Given the description of an element on the screen output the (x, y) to click on. 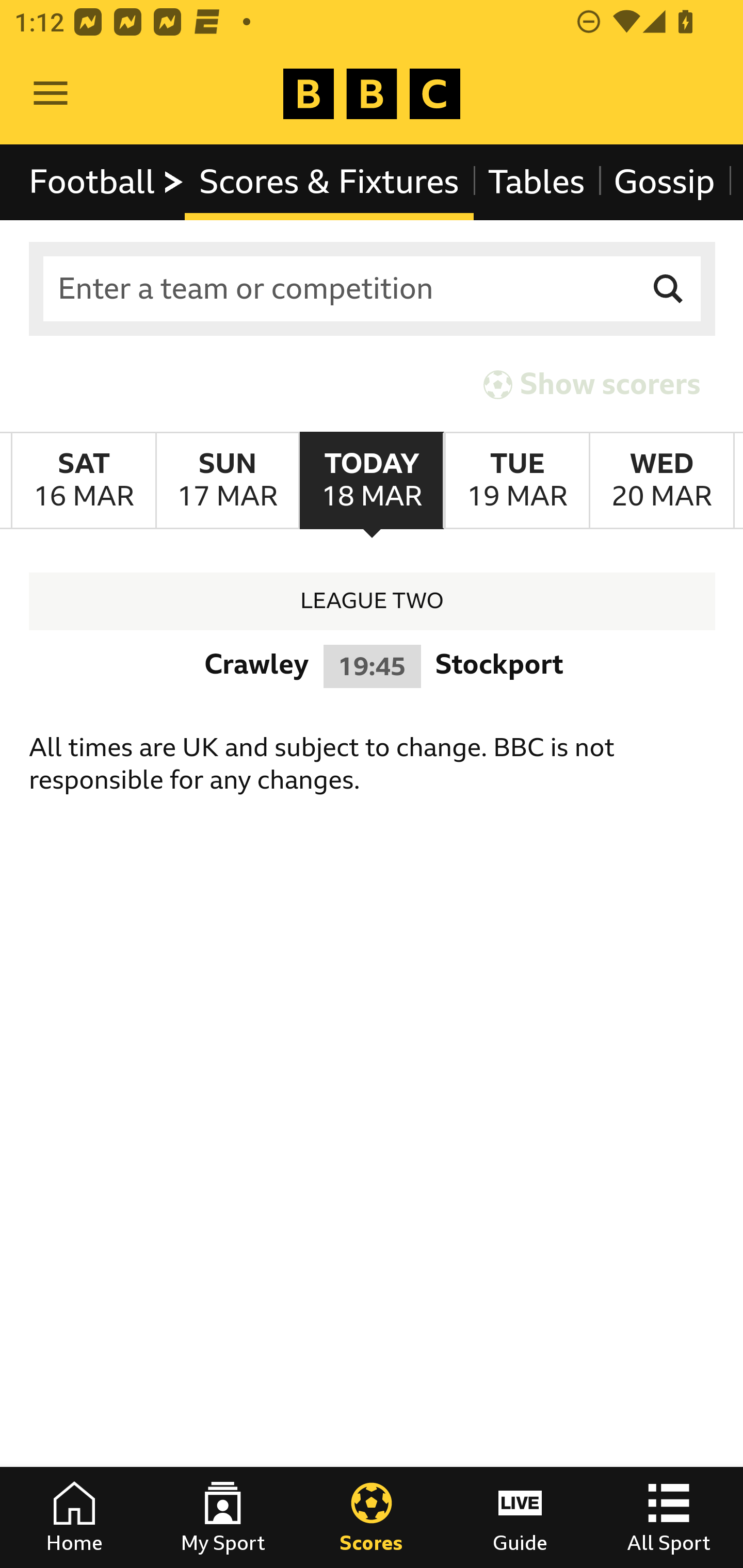
Open Menu (50, 93)
Football  (106, 181)
Scores & Fixtures (329, 181)
Tables (536, 181)
Gossip (664, 181)
Search (669, 289)
Show scorers (591, 383)
SaturdayMarch 16th Saturday March 16th (83, 480)
SundayMarch 17th Sunday March 17th (227, 480)
TuesdayMarch 19th Tuesday March 19th (516, 480)
WednesdayMarch 20th Wednesday March 20th (661, 480)
Home (74, 1517)
My Sport (222, 1517)
Guide (519, 1517)
All Sport (668, 1517)
